Given the description of an element on the screen output the (x, y) to click on. 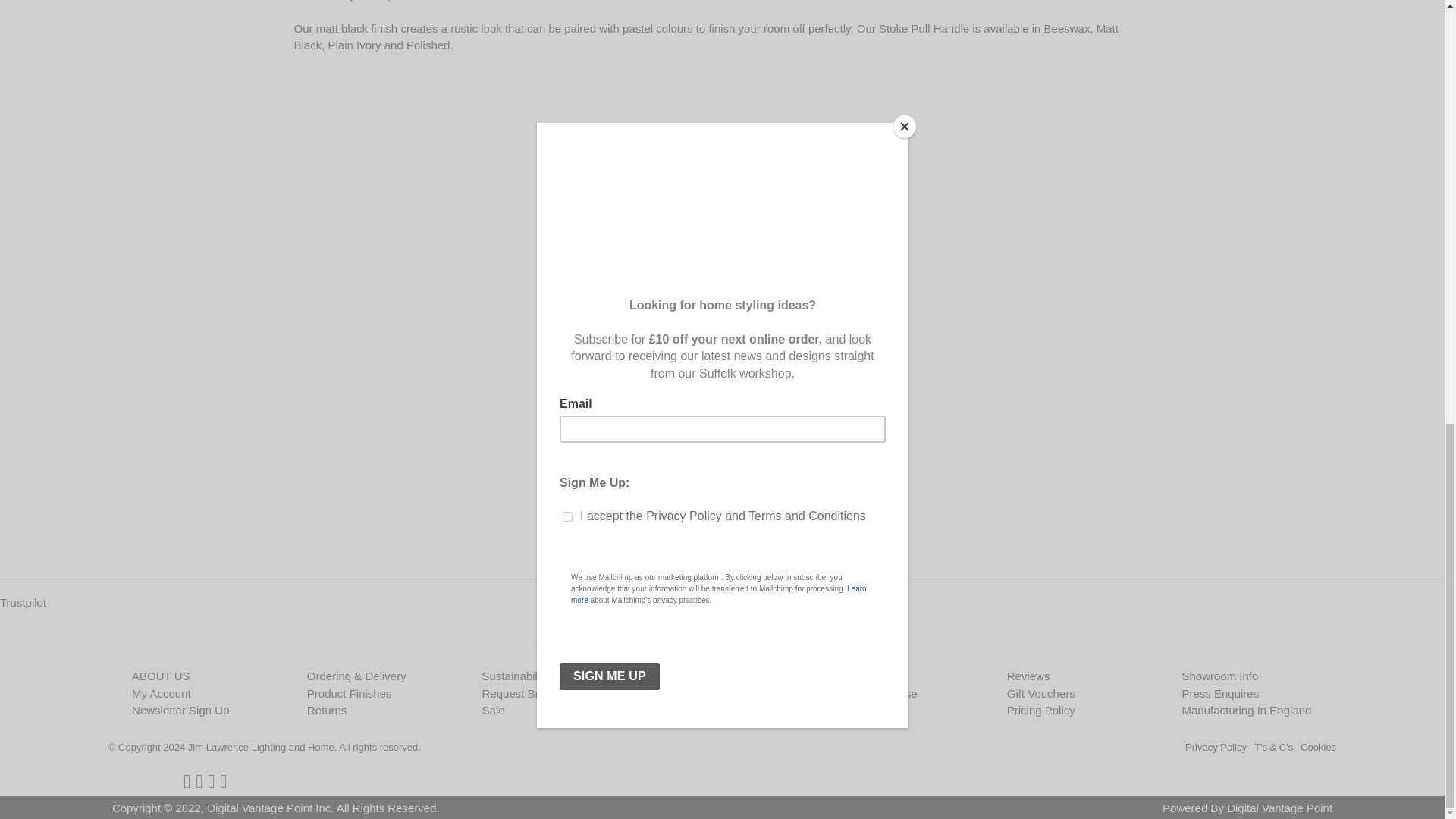
Stoke Pull Handle in Matt Black (717, 330)
Follow us on Instagram (211, 780)
Follow us on Twitter (198, 780)
Follow us on Facebook (186, 780)
